Given the description of an element on the screen output the (x, y) to click on. 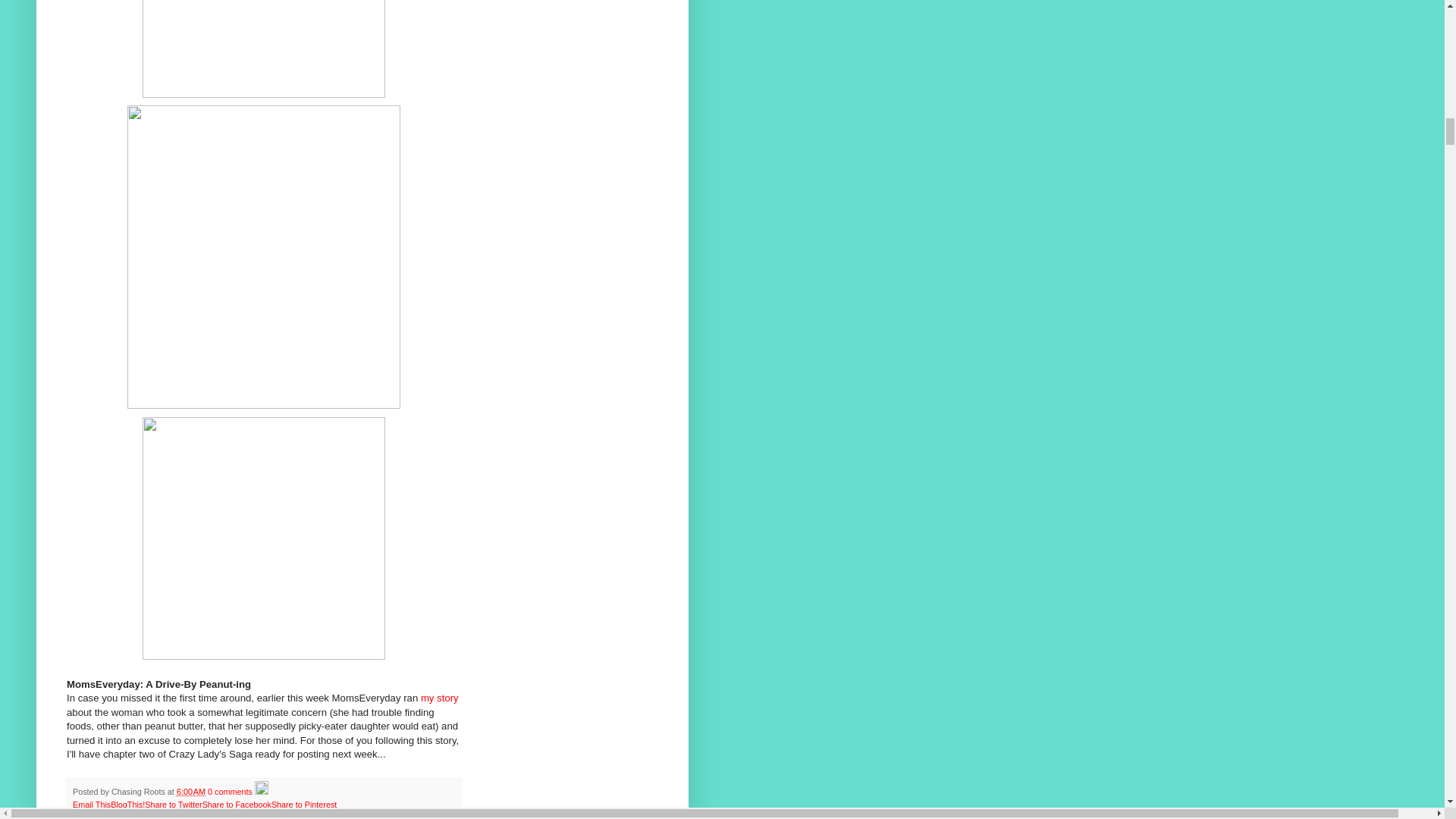
Email This (91, 804)
Share to Facebook (236, 804)
permanent link (190, 791)
Email This (91, 804)
Share to Pinterest (303, 804)
Share to Facebook (236, 804)
Share to Twitter (173, 804)
BlogThis! (127, 804)
Share to Pinterest (303, 804)
